Given the description of an element on the screen output the (x, y) to click on. 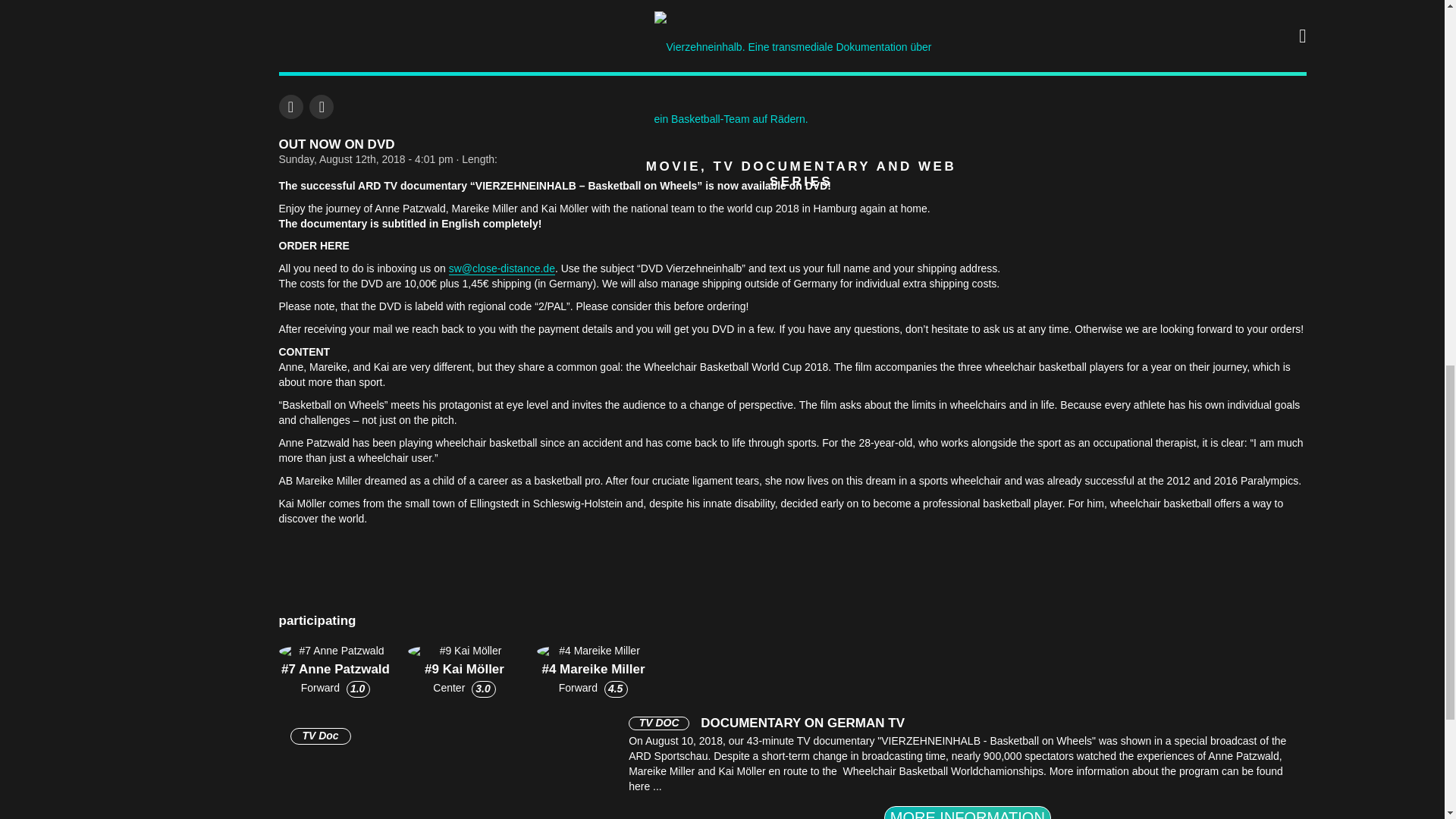
Click here to share "OUT NOW ON DVD" via Twitter. (320, 106)
MORE INFORMATION (967, 812)
Click here to share "OUT NOW ON DVD" via Facebook. (290, 106)
